Given the description of an element on the screen output the (x, y) to click on. 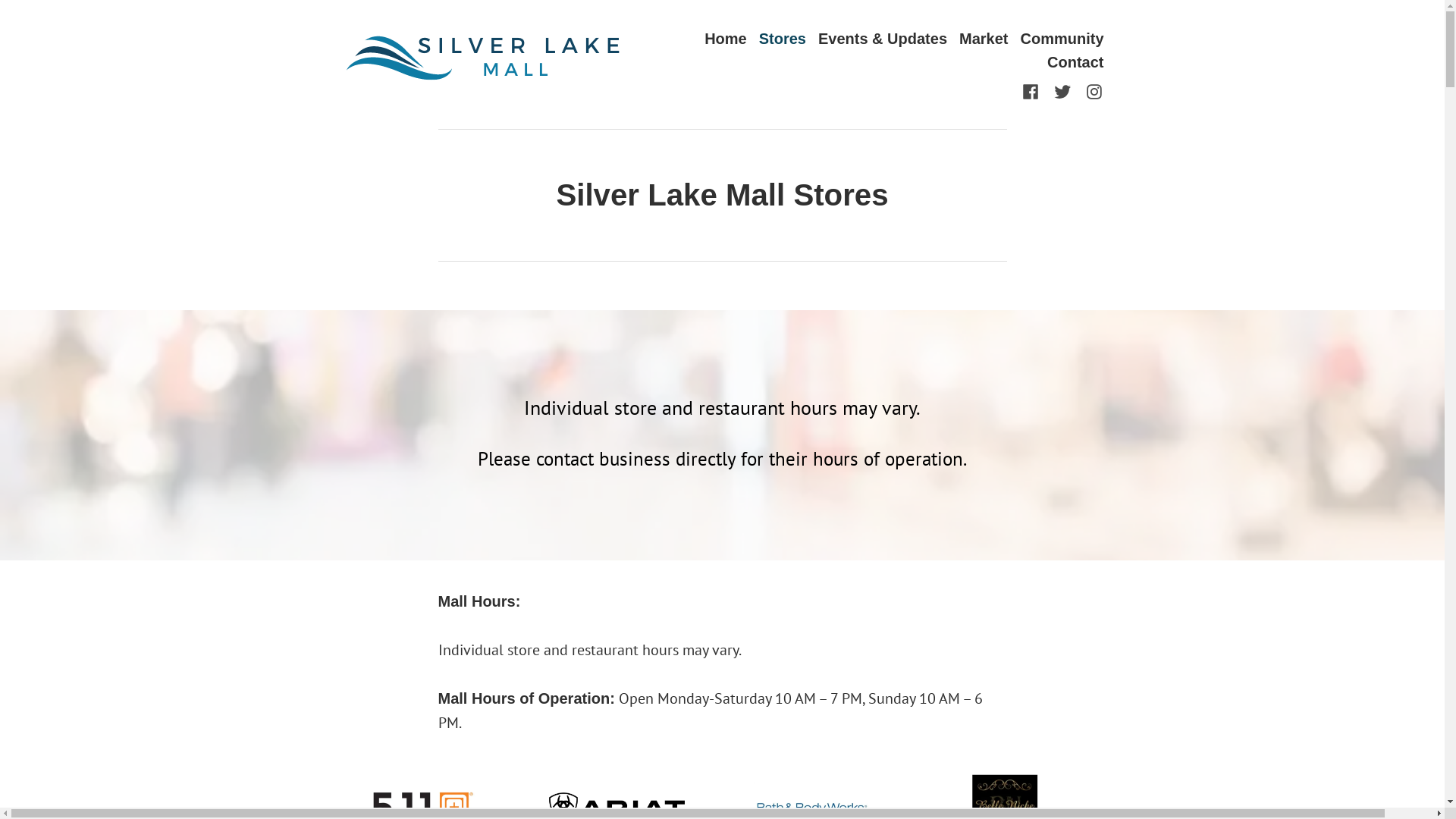
Market Element type: text (983, 37)
Facebook Element type: text (1033, 90)
Home Element type: text (725, 37)
Contact Element type: text (1075, 61)
Events & Updates Element type: text (882, 37)
Stores Element type: text (782, 37)
Instagram Element type: text (1091, 90)
Community Element type: text (1062, 37)
Twitter Element type: text (1062, 90)
Silver Lake Mall Element type: text (440, 91)
